Given the description of an element on the screen output the (x, y) to click on. 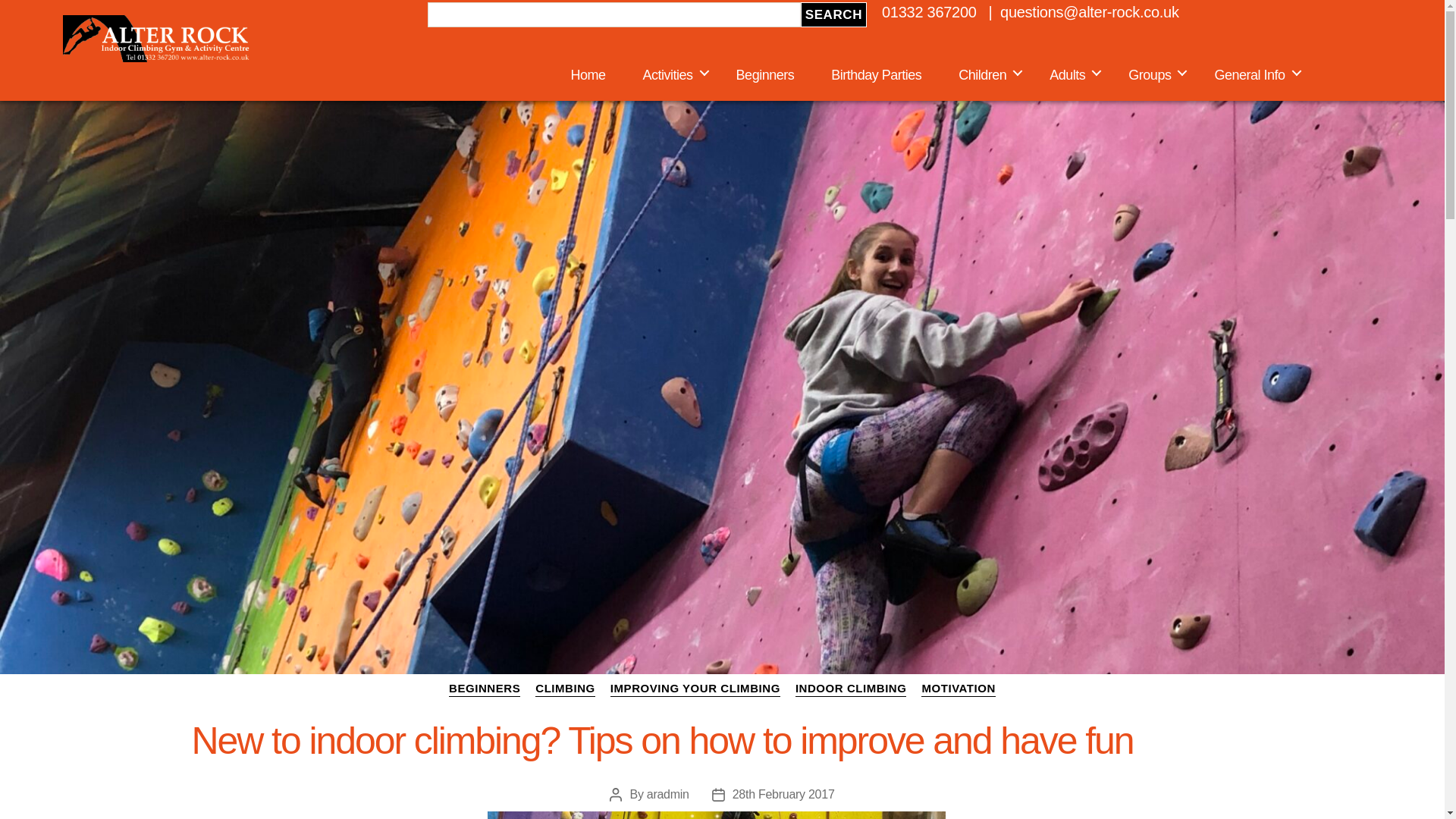
Adults (1070, 75)
01332 367200 (929, 12)
Home (588, 75)
Activities (670, 75)
Birthday Parties (876, 75)
Search (833, 14)
Groups (1152, 75)
Search (833, 14)
General Info (1252, 75)
Search (833, 14)
